Given the description of an element on the screen output the (x, y) to click on. 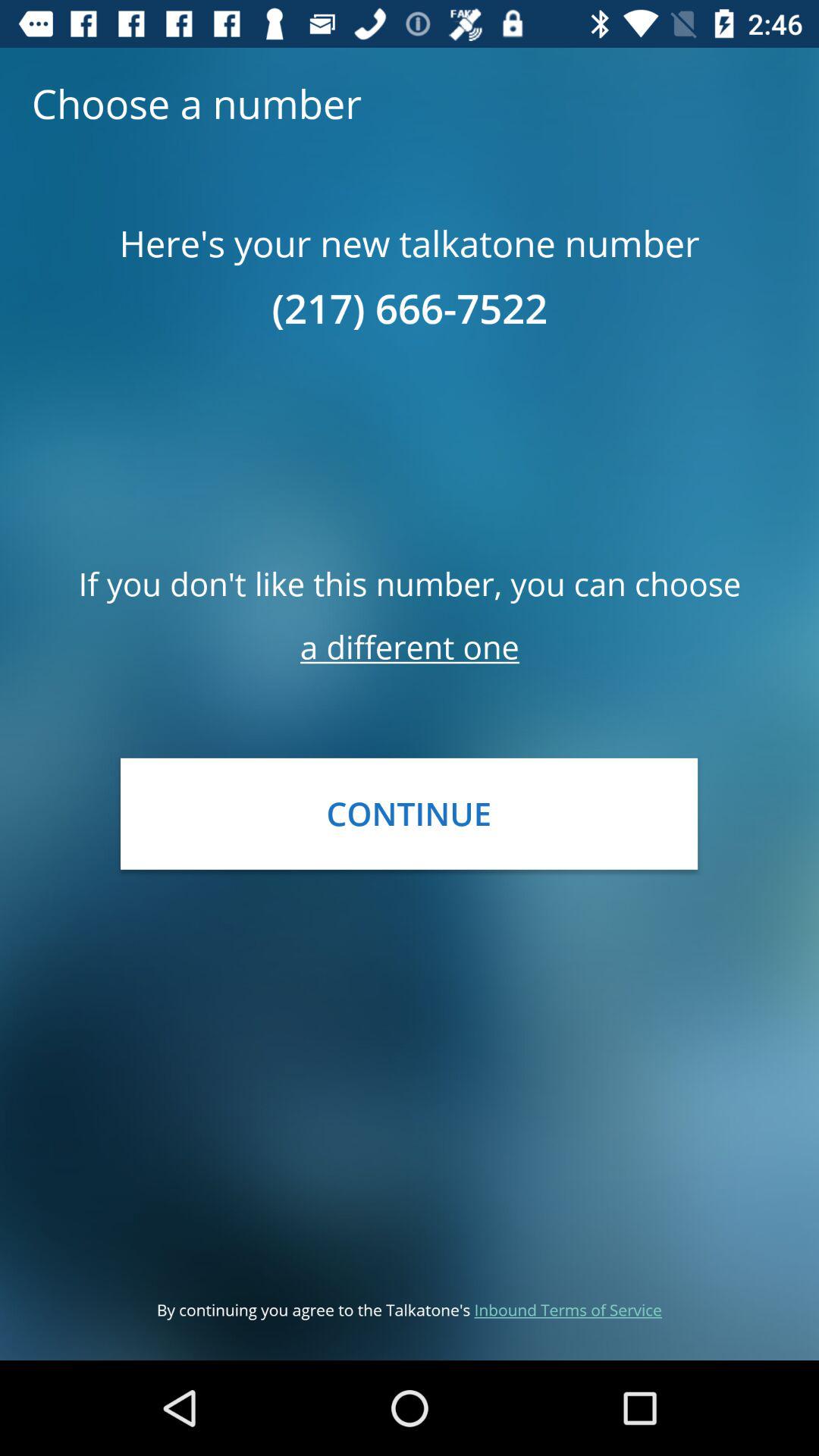
swipe to continue item (408, 813)
